Given the description of an element on the screen output the (x, y) to click on. 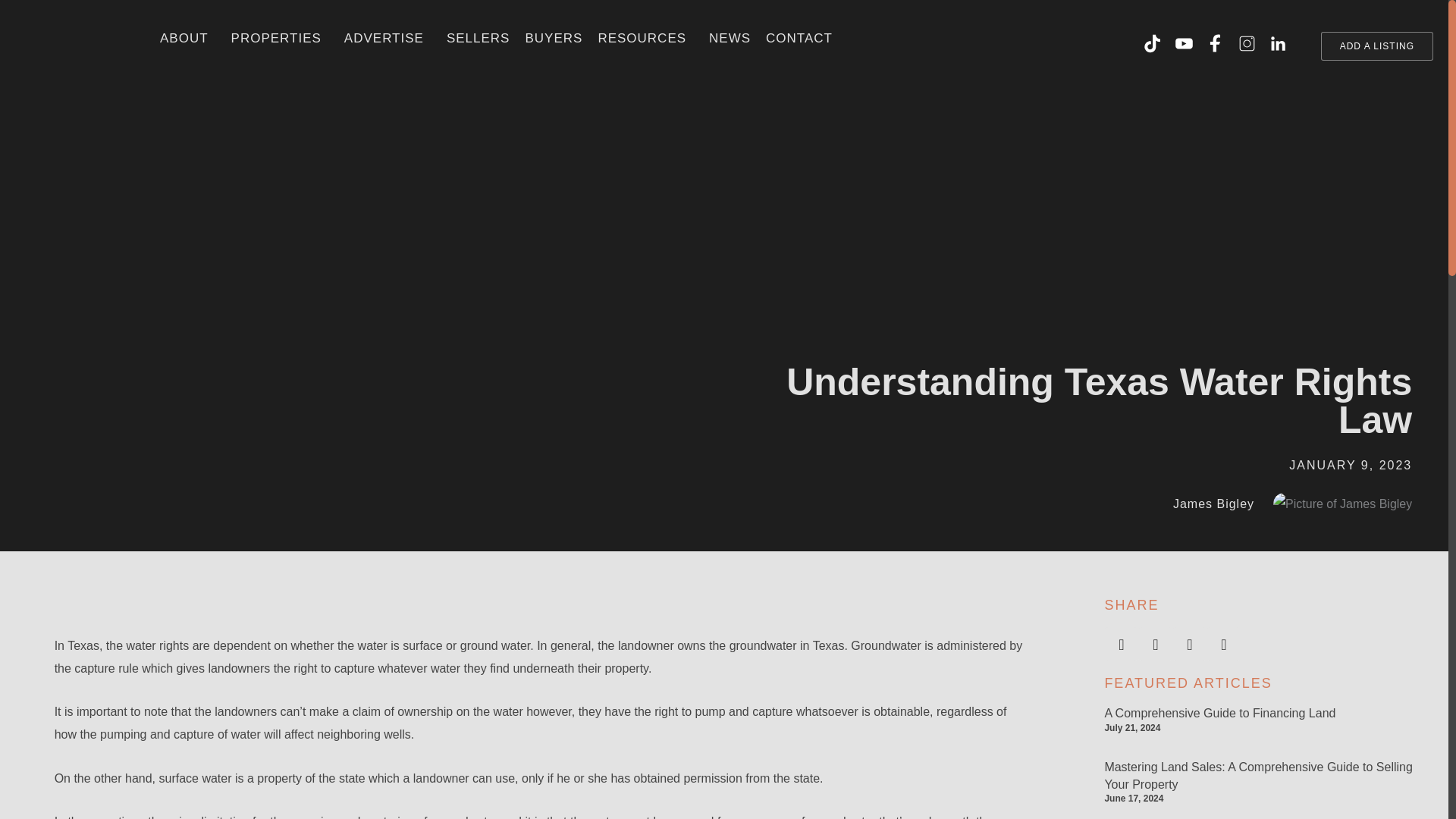
ADVERTISE (387, 38)
CONTACT (799, 38)
NEWS (729, 38)
ABOUT (188, 38)
RESOURCES (645, 38)
ADD A LISTING (1376, 45)
A Comprehensive Guide to Financing Land (1219, 712)
BUYERS (552, 38)
SELLERS (478, 38)
